Given the description of an element on the screen output the (x, y) to click on. 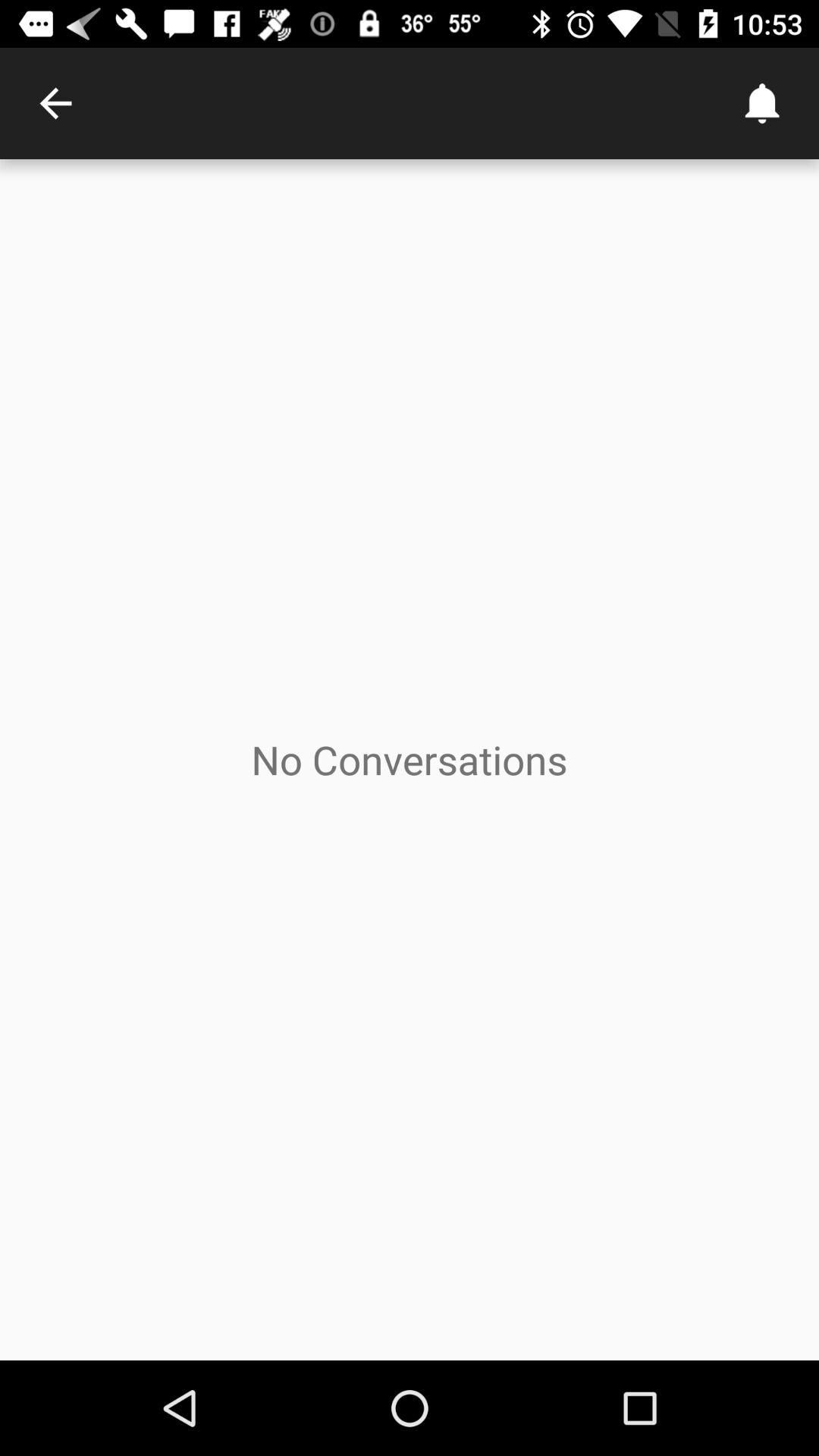
choose the item at the top left corner (55, 103)
